Given the description of an element on the screen output the (x, y) to click on. 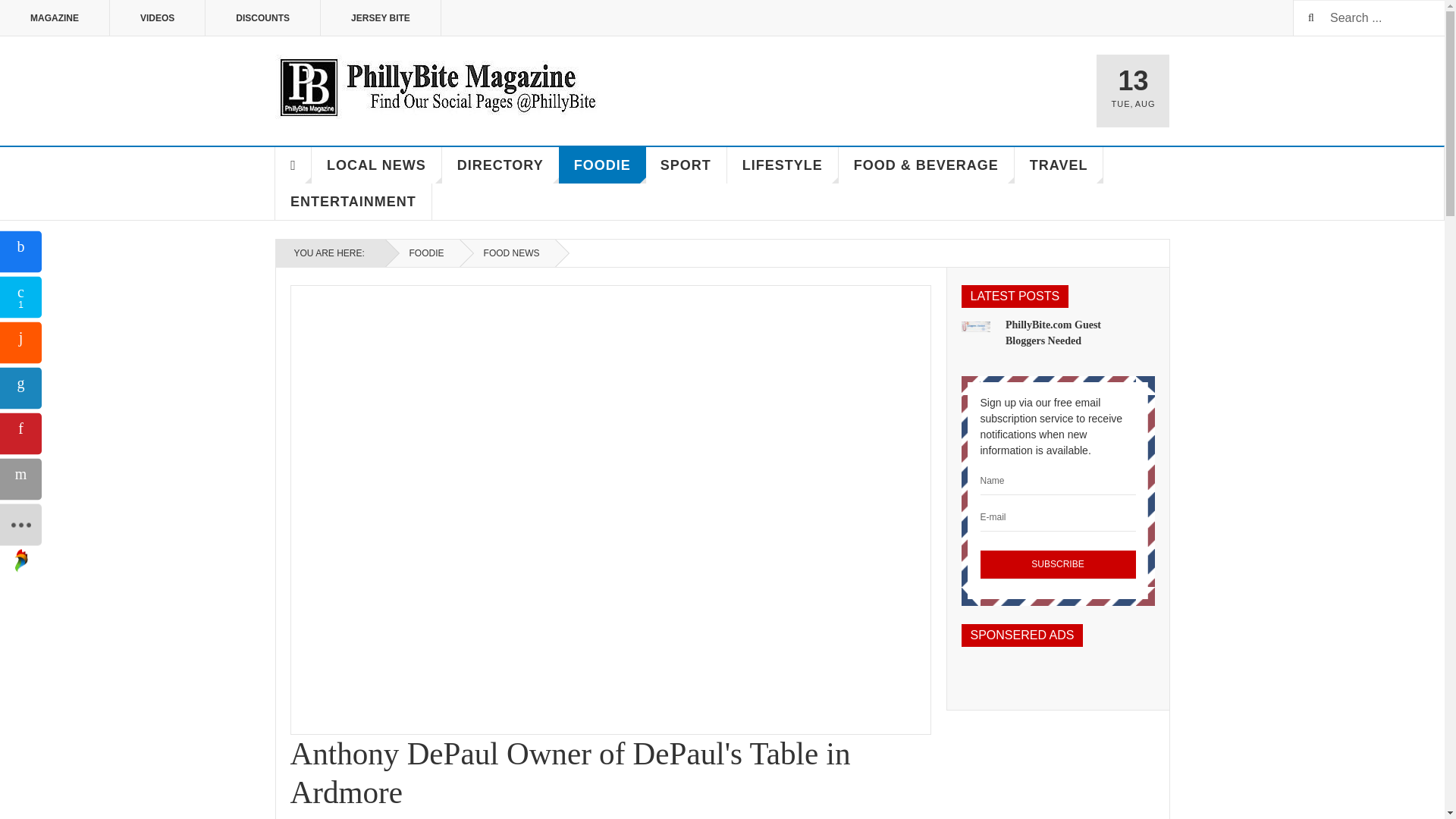
DISCOUNTS (262, 18)
JERSEY BITE (380, 18)
HOME (293, 165)
PhillyBite Magazine (436, 86)
MAGAZINE (55, 18)
FOODIE (422, 252)
SPORT (685, 165)
Name (1057, 480)
TRAVEL (1058, 165)
